Given the description of an element on the screen output the (x, y) to click on. 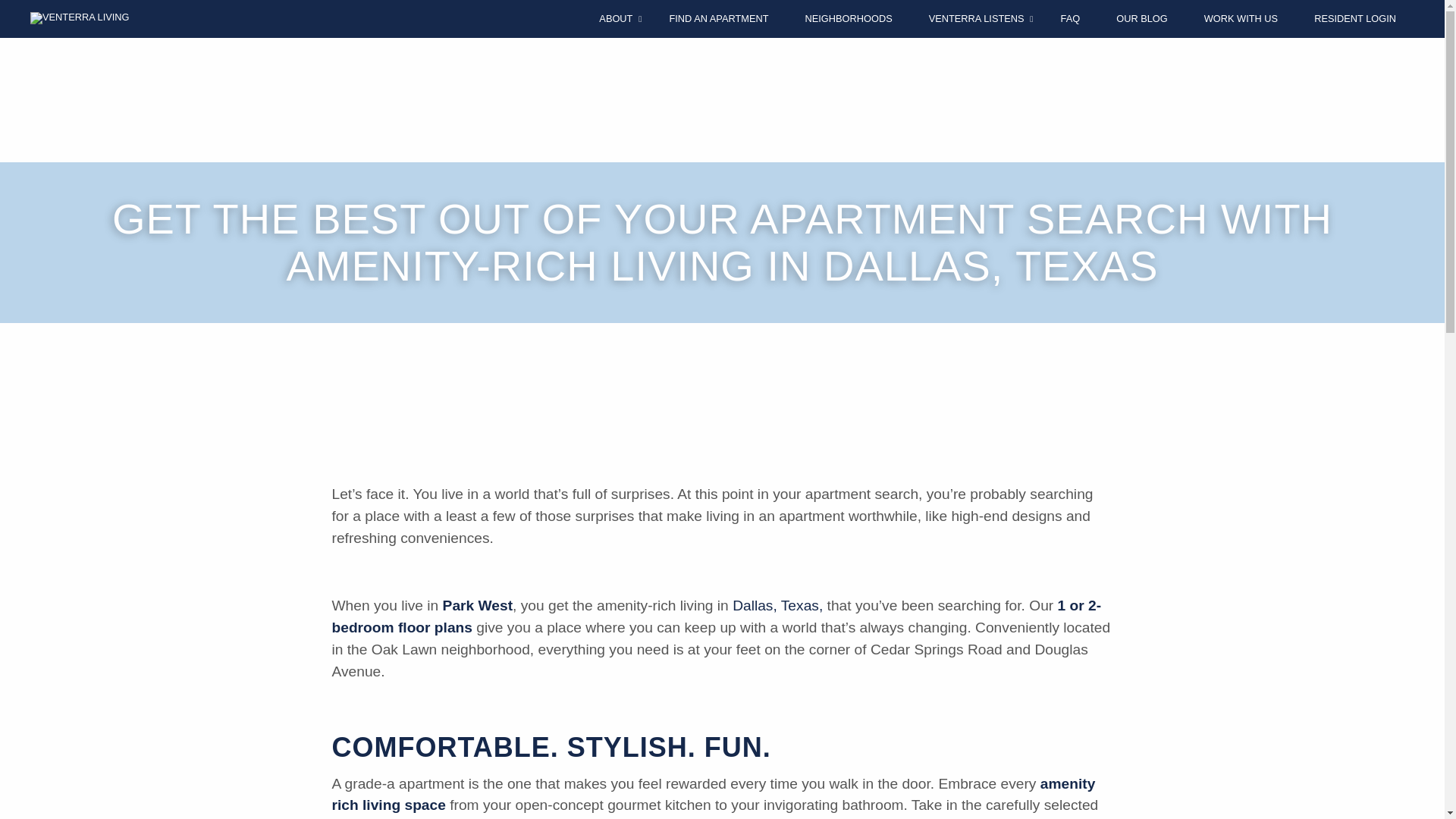
NEIGHBORHOODS (848, 18)
Park West (477, 605)
VENTERRA LISTENS (976, 18)
OUR BLOG (1141, 18)
RESIDENT LOGIN (1355, 18)
WORK WITH US (1241, 18)
1 or 2-bedroom floor plans (716, 616)
FIND AN APARTMENT (718, 18)
Dallas, Texas, (777, 605)
amenity rich living space (713, 794)
